Given the description of an element on the screen output the (x, y) to click on. 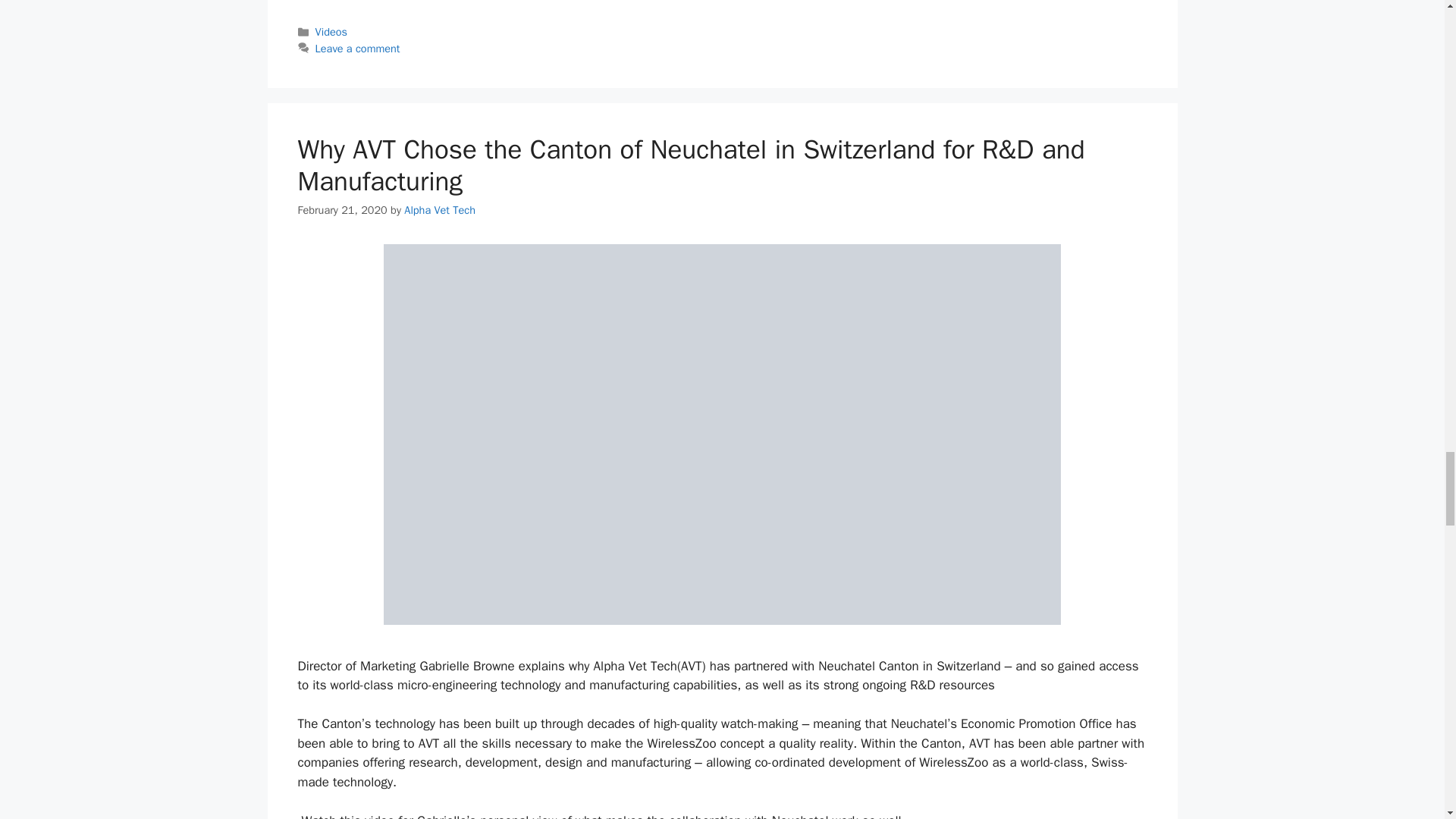
Videos (331, 31)
View all posts by Alpha Vet Tech (440, 210)
Leave a comment (357, 48)
Alpha Vet Tech (440, 210)
